Given the description of an element on the screen output the (x, y) to click on. 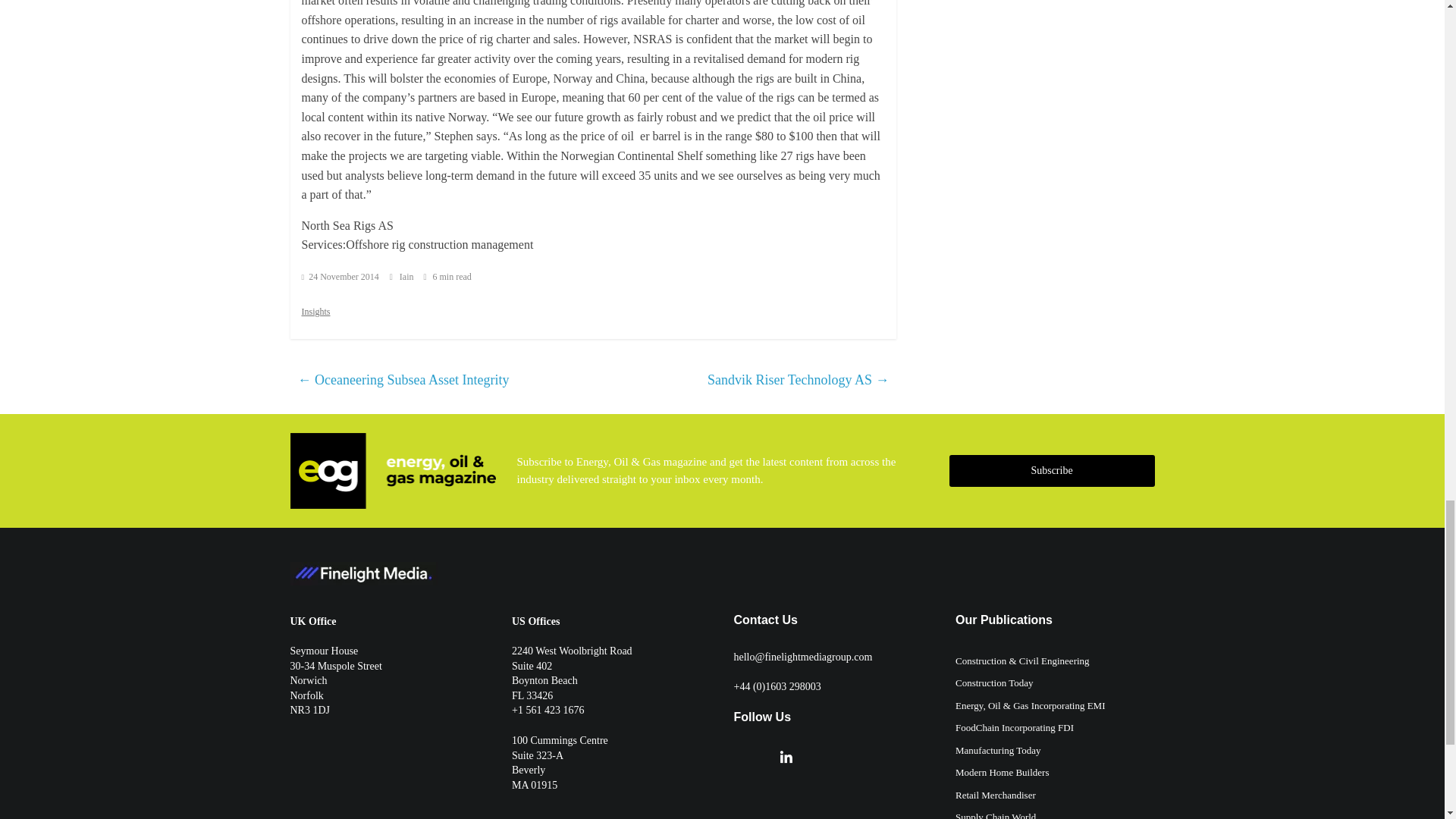
Subscribe (1051, 470)
Insights (315, 310)
24 November 2014 (339, 276)
Iain (407, 276)
Iain (407, 276)
Twitter (739, 757)
1:15 pm (339, 276)
